Given the description of an element on the screen output the (x, y) to click on. 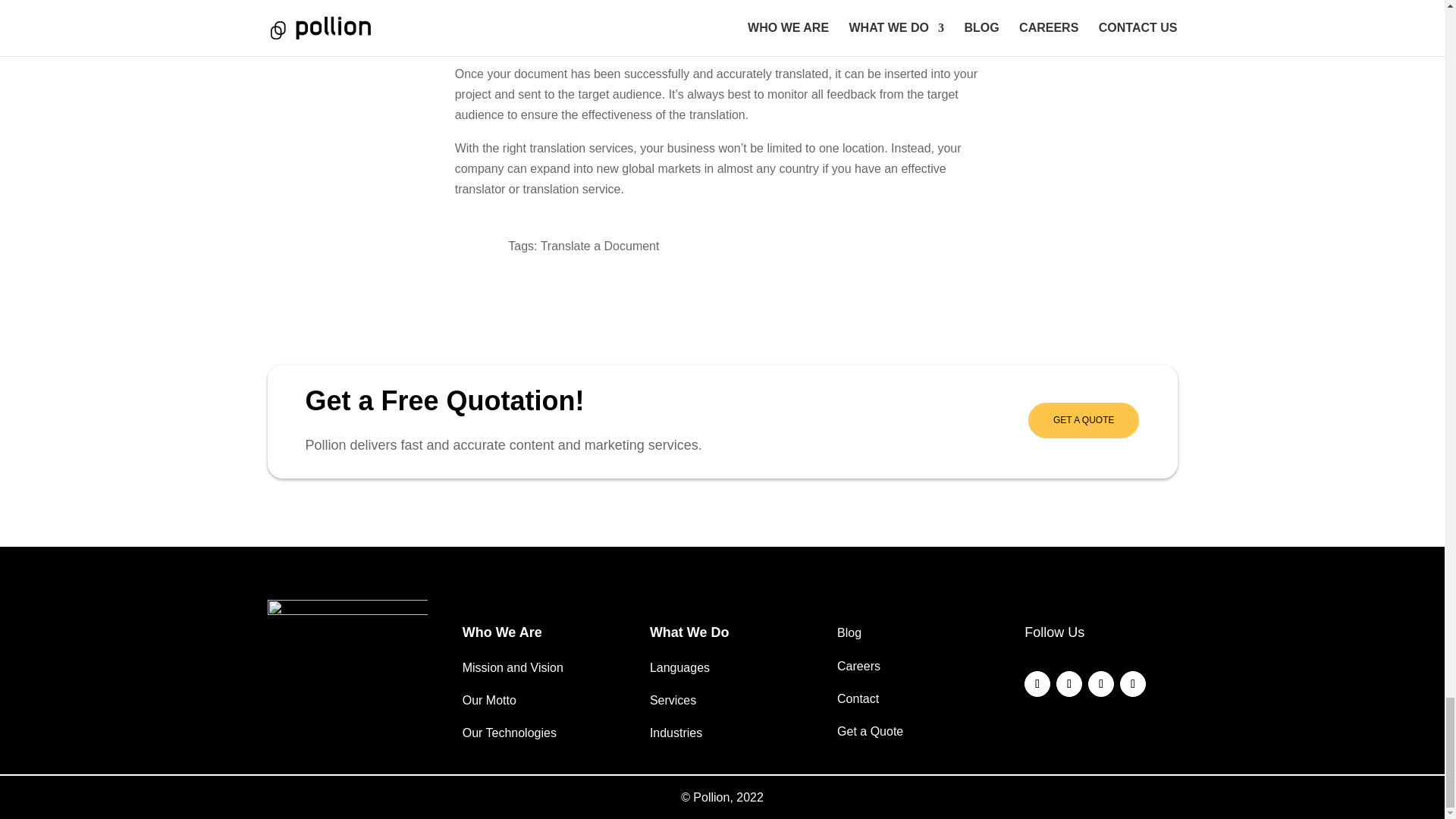
Follow on LinkedIn (1069, 683)
Our Motto (489, 699)
Follow on Facebook (1037, 683)
Mission and Vision (513, 667)
pollion-white-logo-m (346, 623)
Follow on X (1100, 683)
GET A QUOTE (1082, 419)
